Given the description of an element on the screen output the (x, y) to click on. 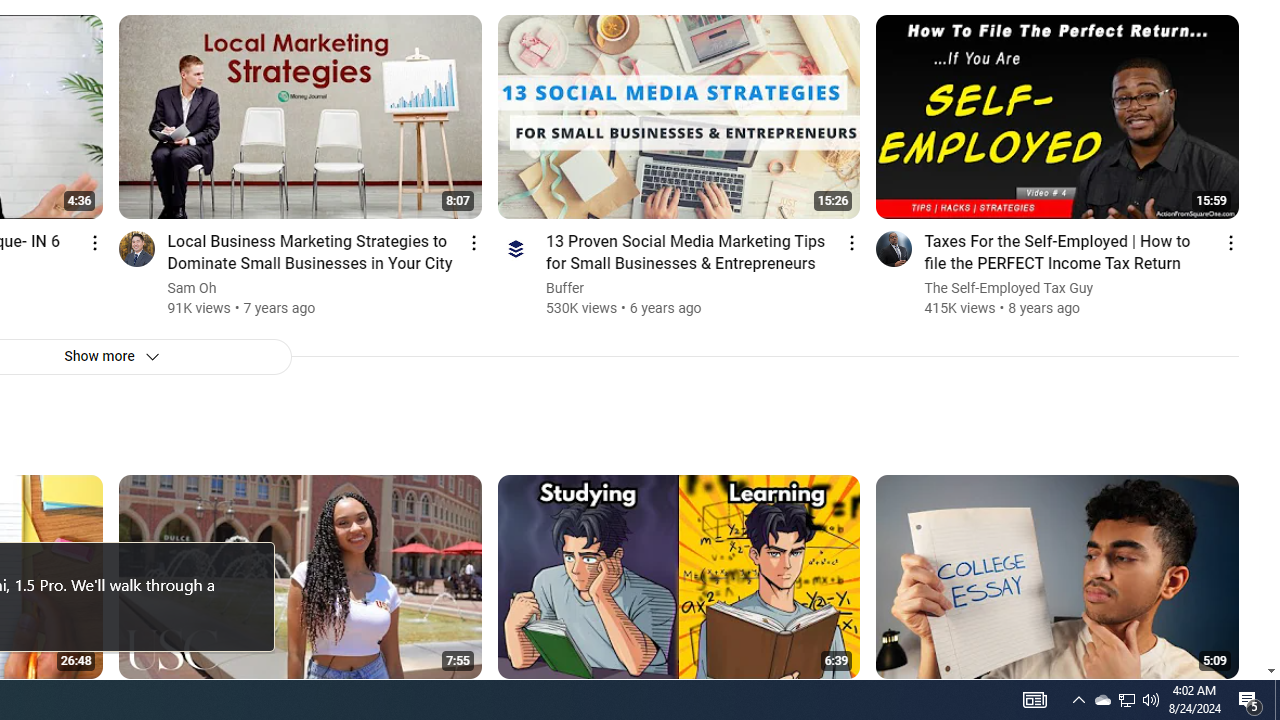
Buffer (565, 287)
Sam Oh (191, 287)
Action menu (1229, 241)
The Self-Employed Tax Guy (1009, 287)
Go to channel (893, 248)
